Given the description of an element on the screen output the (x, y) to click on. 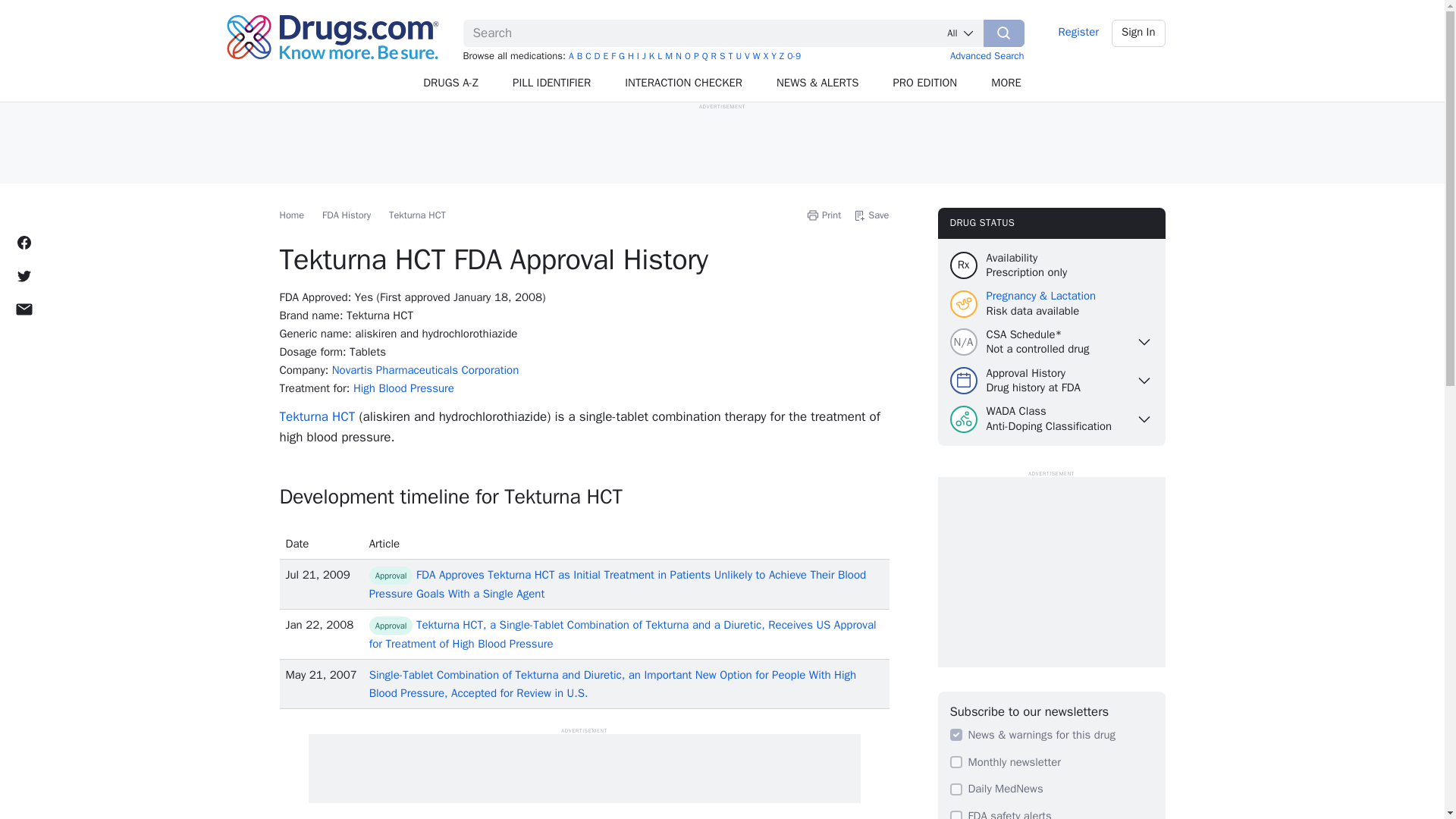
D (596, 55)
3rd party ad content (721, 143)
G (621, 55)
C (588, 55)
U (738, 55)
N (678, 55)
J (644, 55)
S (722, 55)
B (579, 55)
Z (781, 55)
A (571, 55)
P (696, 55)
Sign In (1139, 32)
T (730, 55)
